Given the description of an element on the screen output the (x, y) to click on. 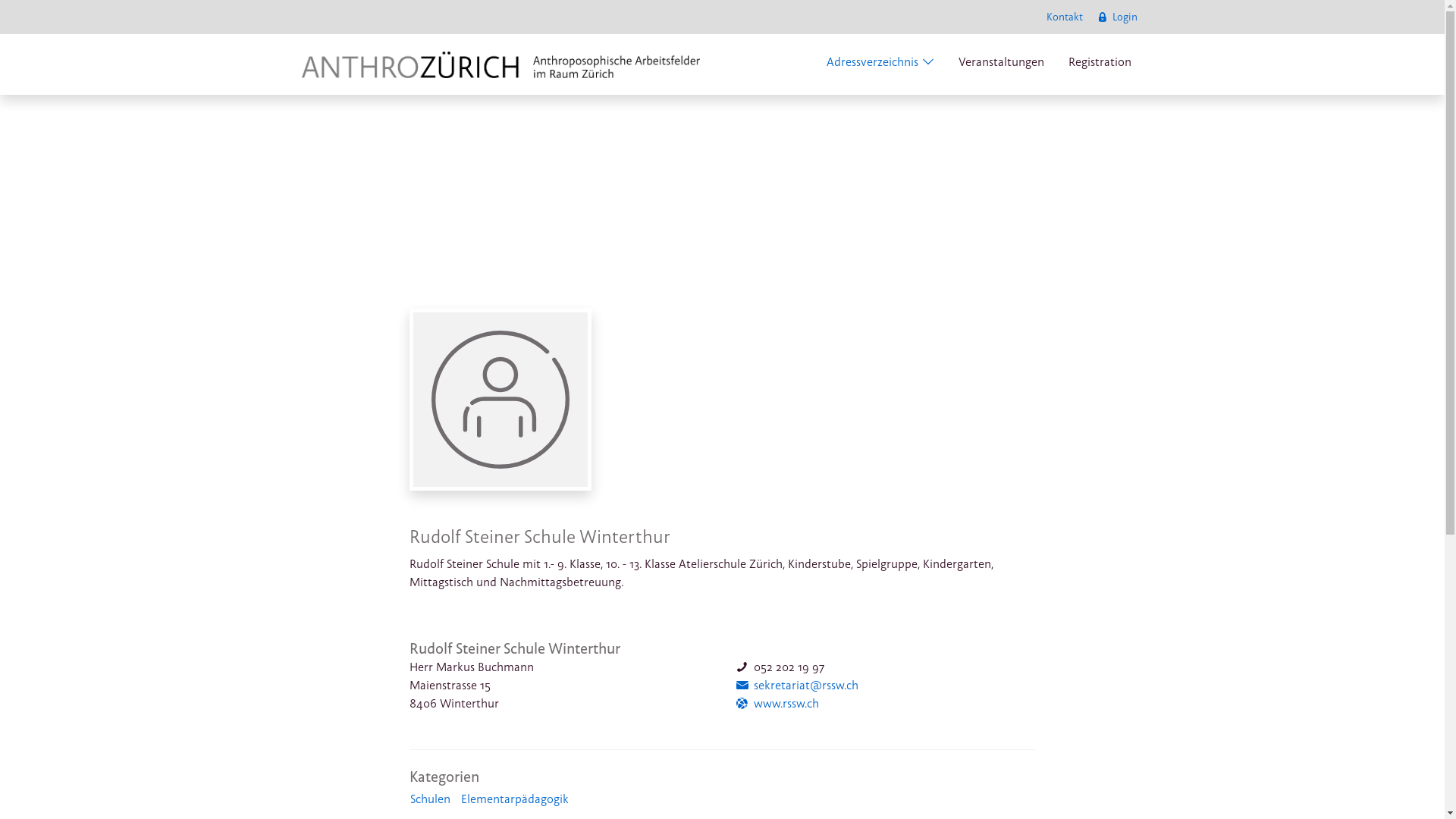
Veranstaltungen Element type: text (1001, 64)
sekretariat@rssw.ch Element type: text (796, 685)
Schulen Element type: text (430, 799)
Adressverzeichnis Element type: text (880, 64)
Kontakt Element type: text (1064, 17)
Registration Element type: text (1098, 64)
Login Element type: text (1115, 17)
www.rssw.ch Element type: text (776, 703)
